Given the description of an element on the screen output the (x, y) to click on. 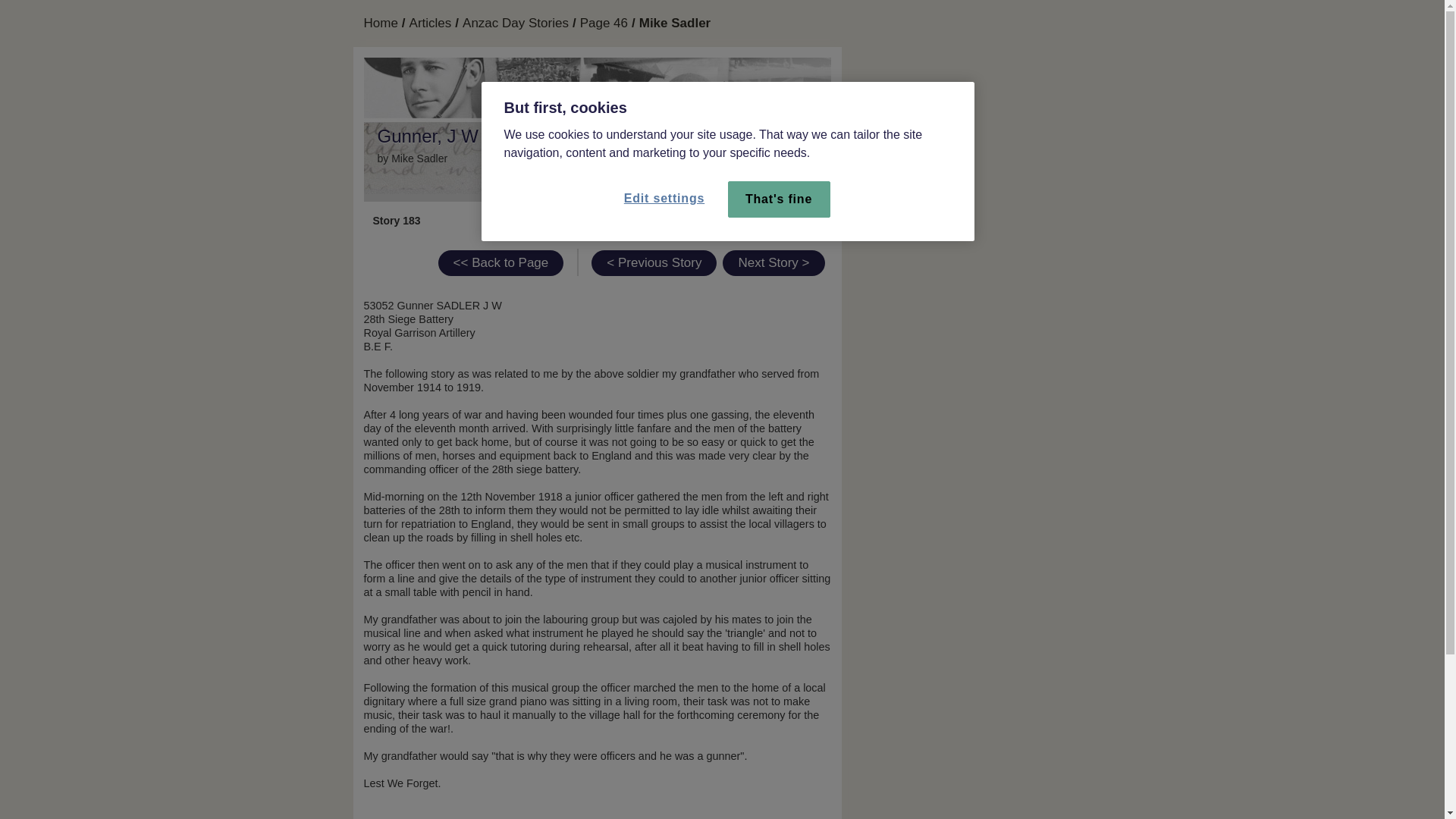
Anzac Day Stories (516, 23)
That's fine (778, 198)
Edit settings (663, 198)
Articles (430, 23)
Page 46 (603, 23)
Home (380, 23)
